Given the description of an element on the screen output the (x, y) to click on. 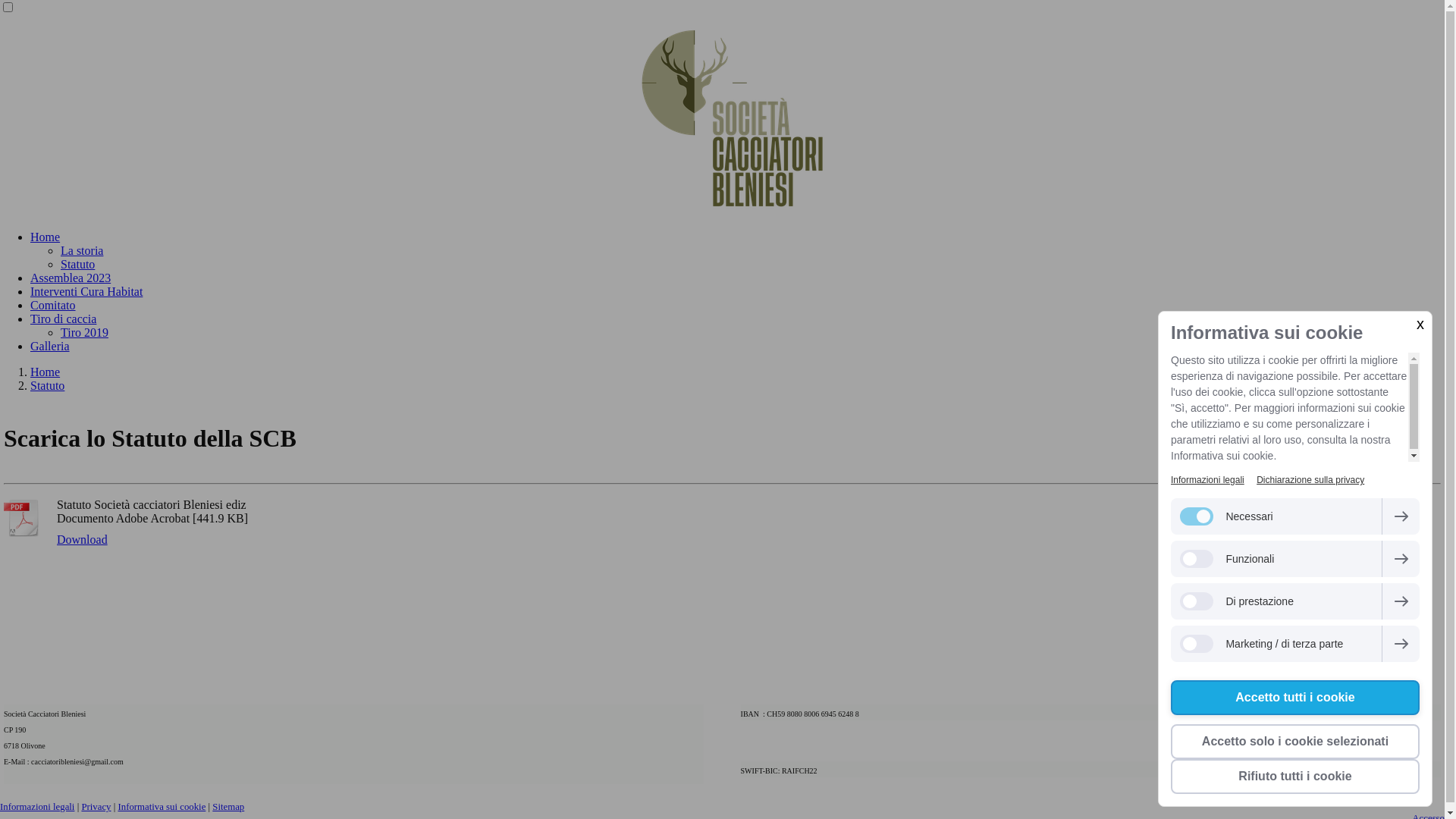
La storia Element type: text (81, 250)
Privacy Element type: text (95, 806)
Informazioni legali Element type: text (1207, 479)
Download Element type: text (81, 539)
Dichiarazione sulla privacy Element type: text (1310, 479)
Tiro di caccia Element type: text (63, 318)
Sitemap Element type: text (228, 806)
Accetto tutti i cookie Element type: text (1294, 697)
Rifiuto tutti i cookie Element type: text (1294, 776)
Informativa sui cookie Element type: text (161, 806)
Statuto Element type: text (77, 263)
Informazioni legali Element type: text (37, 806)
Comitato Element type: text (52, 304)
Galleria Element type: text (49, 345)
Home Element type: text (44, 236)
Assemblea 2023 Element type: text (70, 277)
Statuto Element type: text (47, 385)
Tiro 2019 Element type: text (84, 332)
Interventi Cura Habitat Element type: text (86, 291)
Accetto solo i cookie selezionati Element type: text (1294, 741)
Home Element type: text (44, 371)
